Given the description of an element on the screen output the (x, y) to click on. 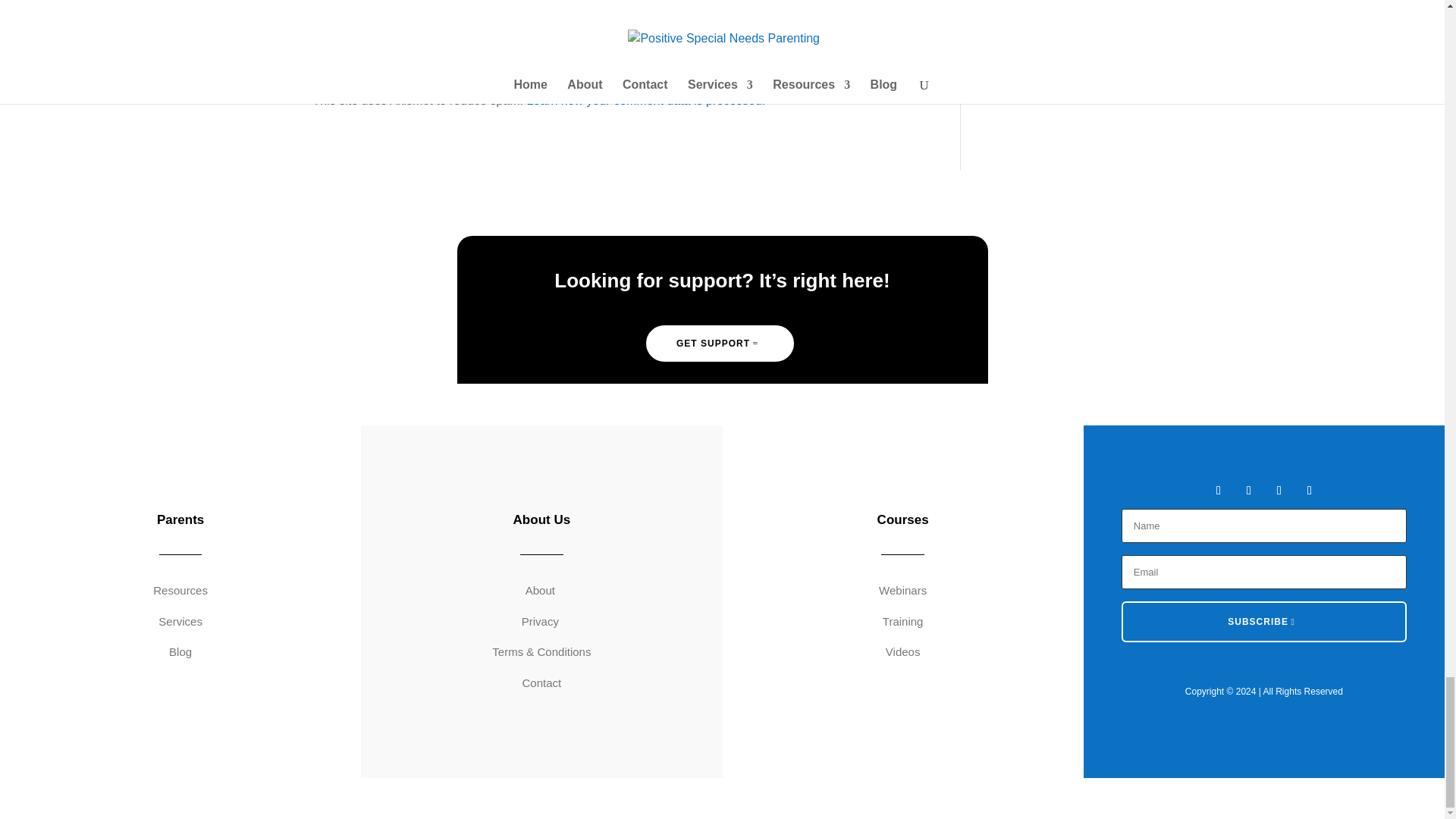
Submit Comment (840, 20)
Follow on Instagram (1278, 490)
Follow on Twitter (1248, 490)
Follow on Pinterest (1309, 490)
Follow on Facebook (1218, 490)
